Given the description of an element on the screen output the (x, y) to click on. 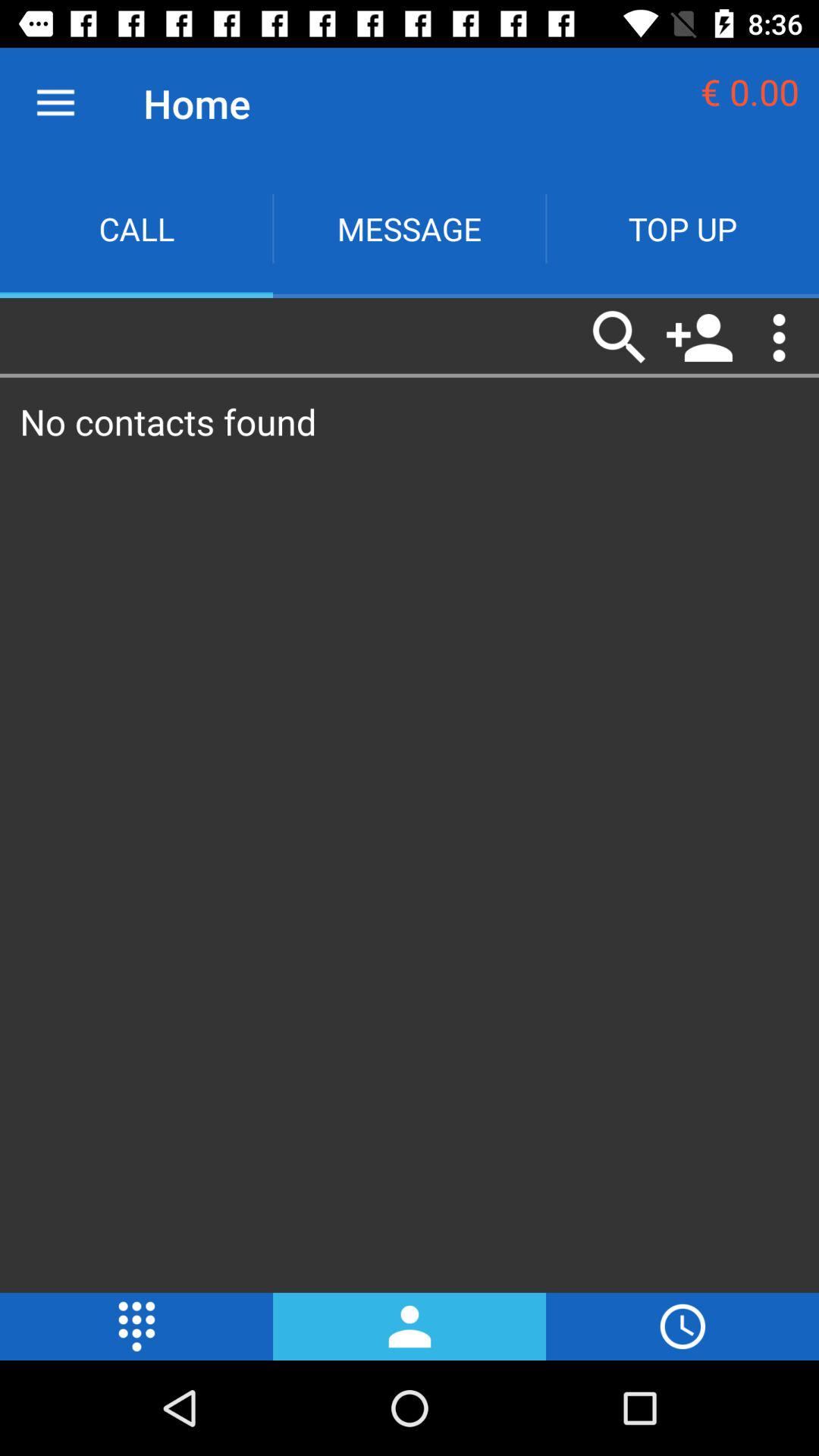
select the time icon beside the profile icon bottom of the screen (682, 1325)
select the text top up (682, 228)
click on three dot icon (779, 337)
click on second button at bottom of page (409, 1325)
click on the first  icon which is under the topup (619, 337)
